Given the description of an element on the screen output the (x, y) to click on. 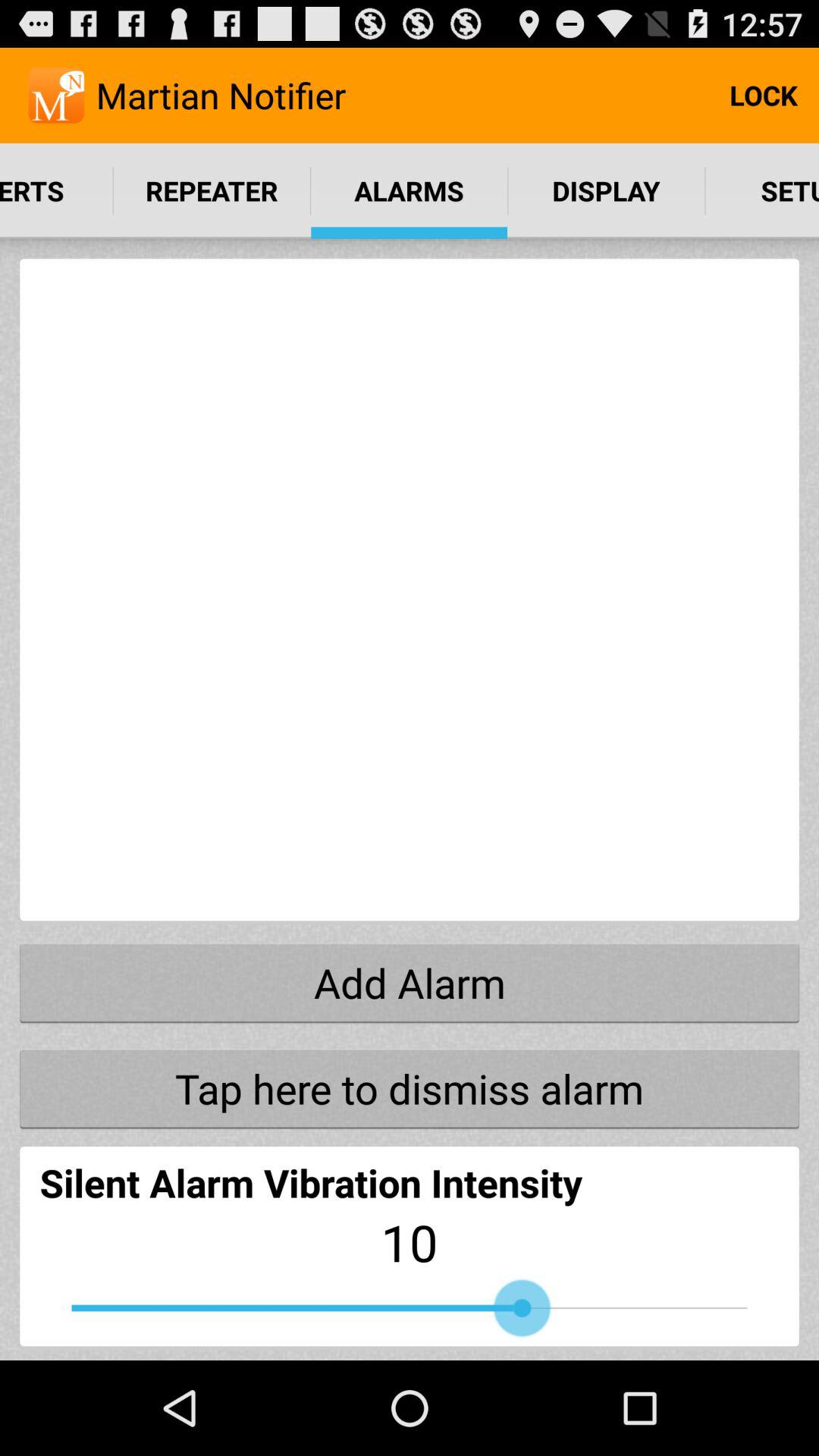
open item above tap here to (409, 982)
